Given the description of an element on the screen output the (x, y) to click on. 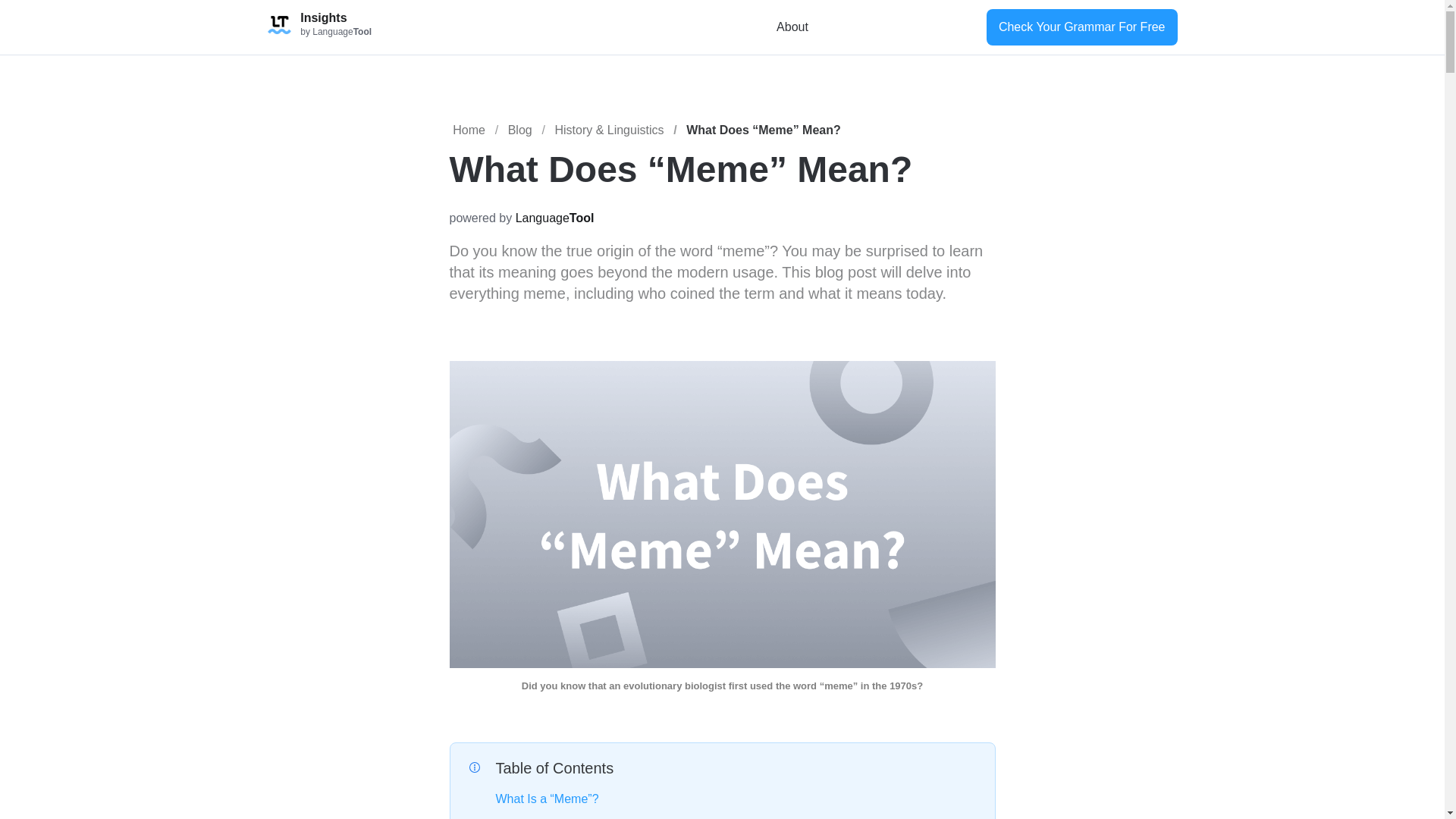
LanguageTool (554, 217)
German (921, 27)
Blog (520, 129)
Deutsch (921, 27)
Check Your Grammar For Free (1082, 27)
French (945, 27)
English (896, 27)
English (896, 27)
Spanish (969, 27)
Home (468, 129)
